Given the description of an element on the screen output the (x, y) to click on. 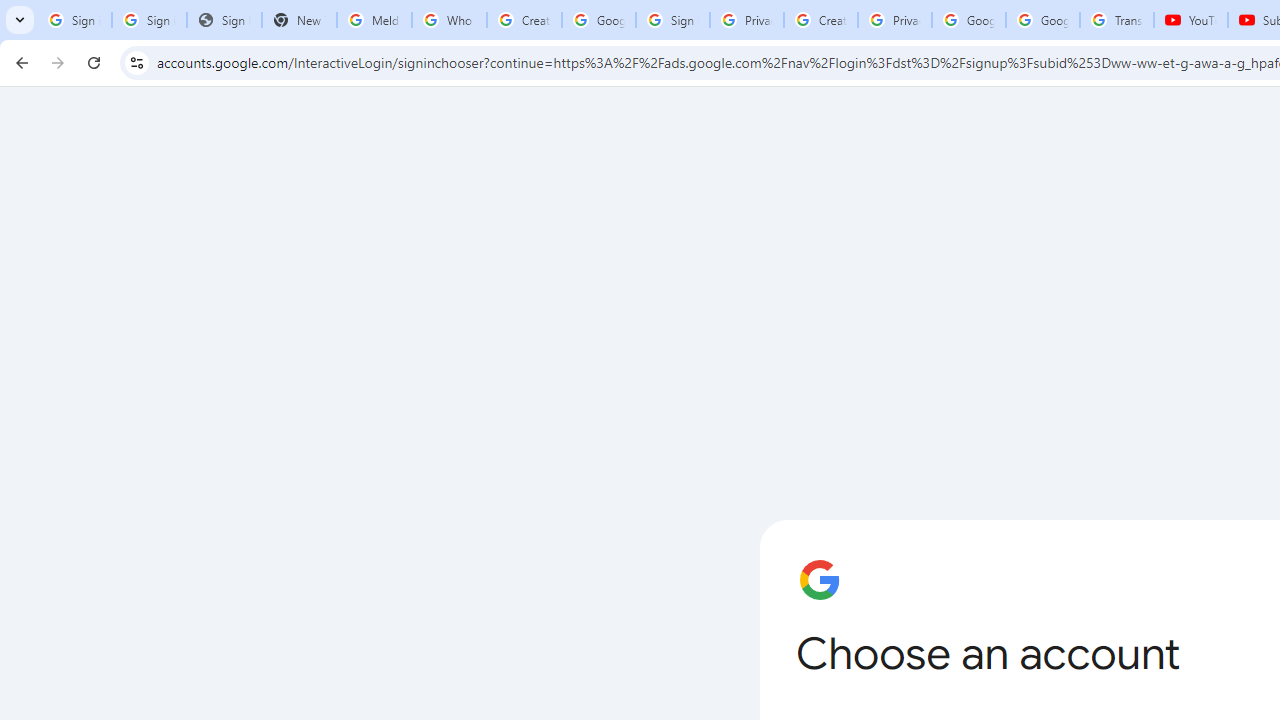
Reload (93, 62)
Sign In - USA TODAY (224, 20)
YouTube (1190, 20)
Sign in - Google Accounts (74, 20)
Back (19, 62)
Create your Google Account (820, 20)
New Tab (299, 20)
Forward (57, 62)
Create your Google Account (523, 20)
